Given the description of an element on the screen output the (x, y) to click on. 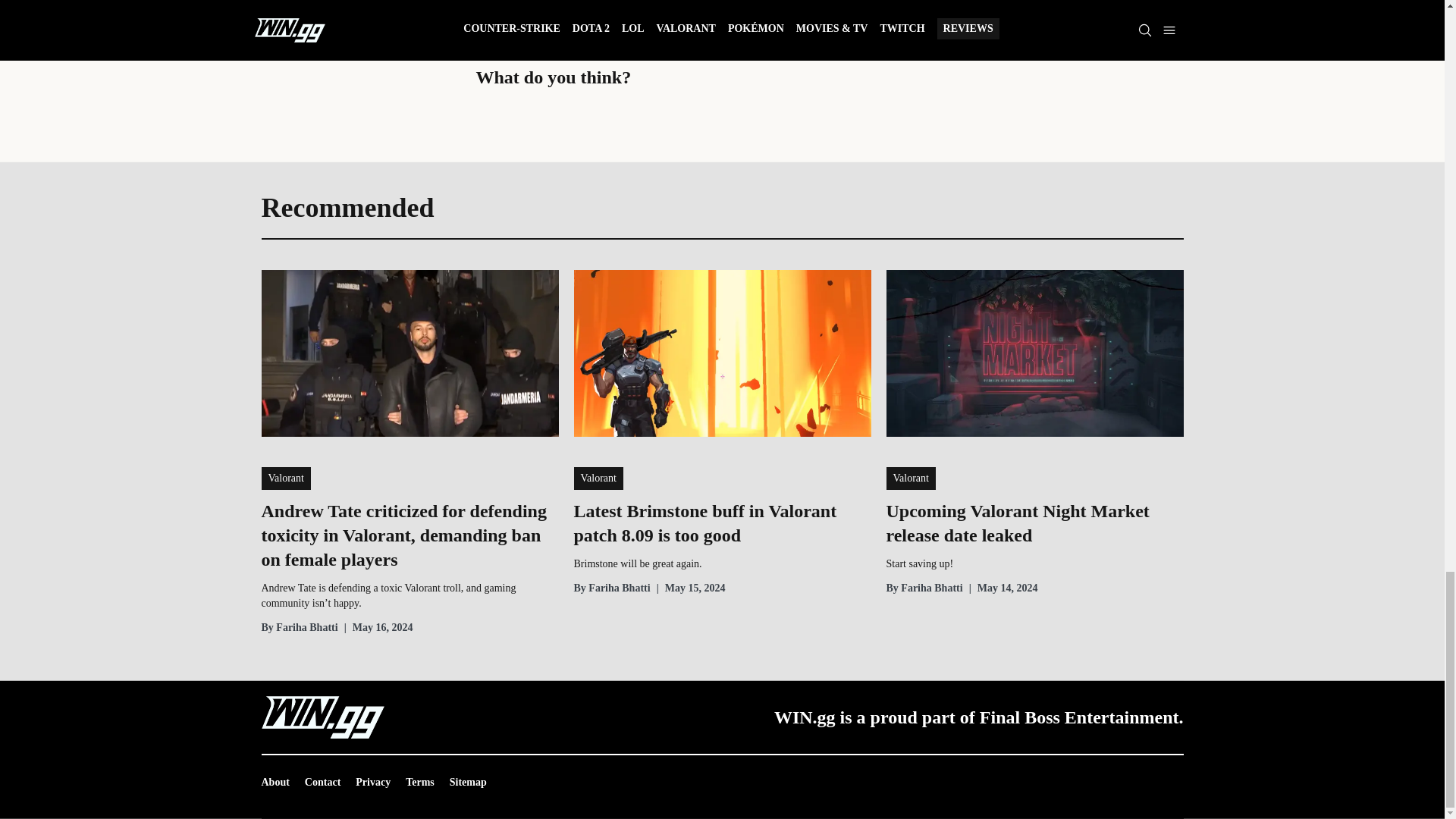
By Fariha Bhatti (298, 627)
Valorant (285, 477)
this link (575, 26)
